Given the description of an element on the screen output the (x, y) to click on. 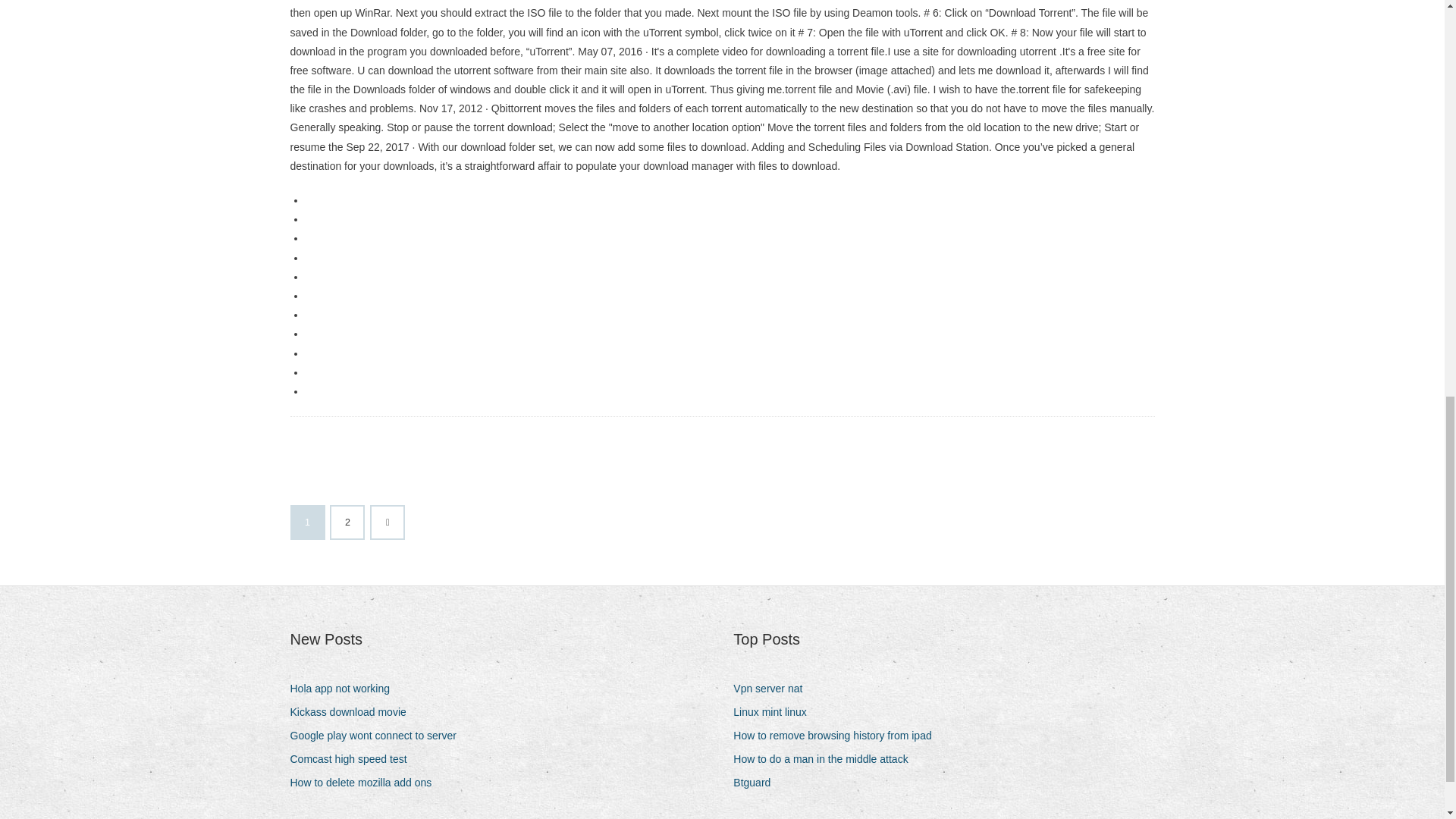
Hola app not working (345, 688)
Btguard (757, 783)
Google play wont connect to server (378, 735)
2 (346, 522)
Kickass download movie (352, 711)
How to do a man in the middle attack (825, 759)
How to delete mozilla add ons (365, 783)
Comcast high speed test (353, 759)
Linux mint linux (775, 711)
Vpn server nat (773, 688)
